Given the description of an element on the screen output the (x, y) to click on. 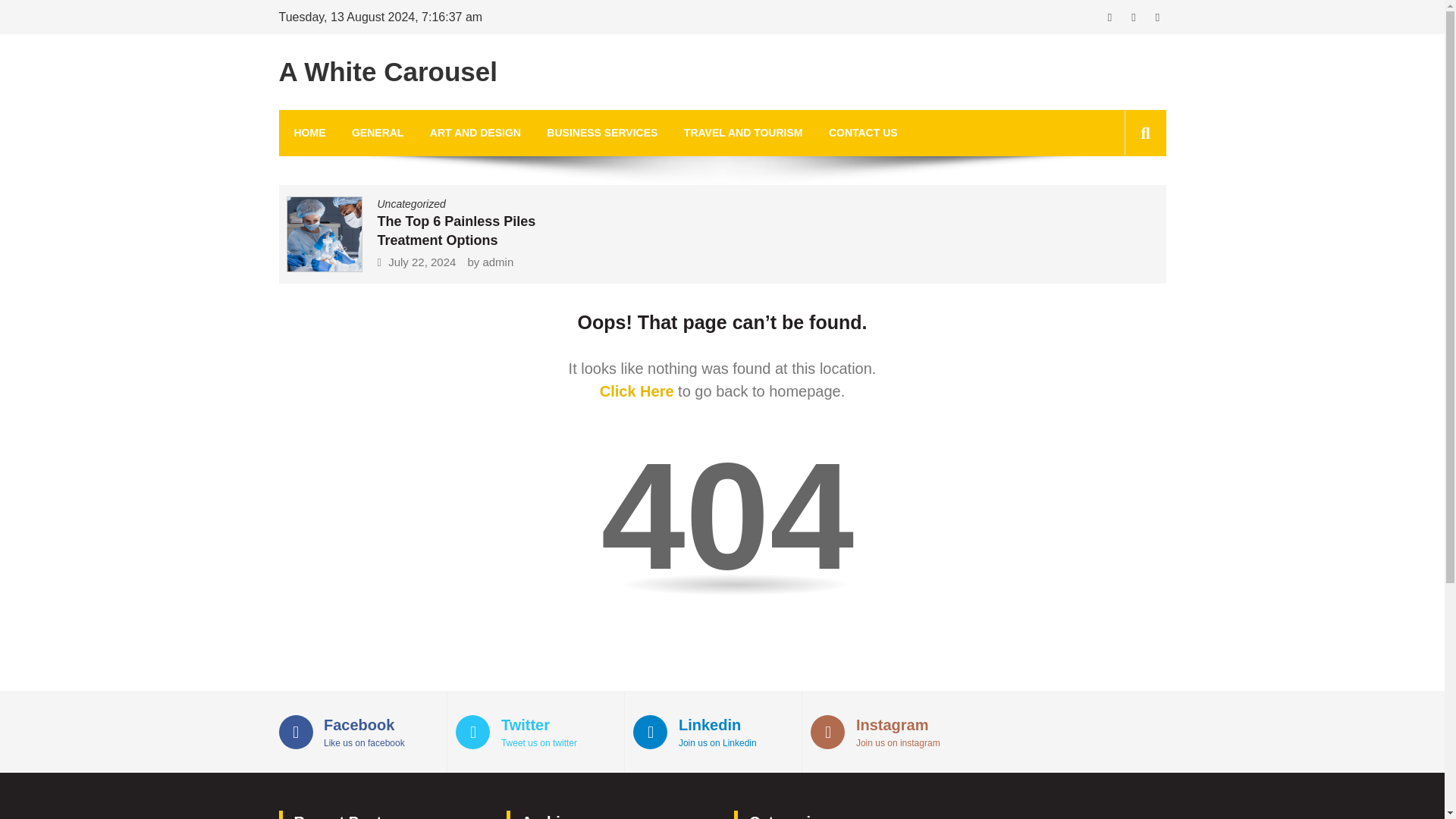
GENERAL (377, 132)
BUSINESS SERVICES (889, 730)
admin (602, 132)
A White Carousel (497, 261)
Click Here (388, 71)
CONTACT US (636, 391)
July 22, 2024 (863, 132)
Uncategorized (421, 261)
ART AND DESIGN (411, 203)
